Given the description of an element on the screen output the (x, y) to click on. 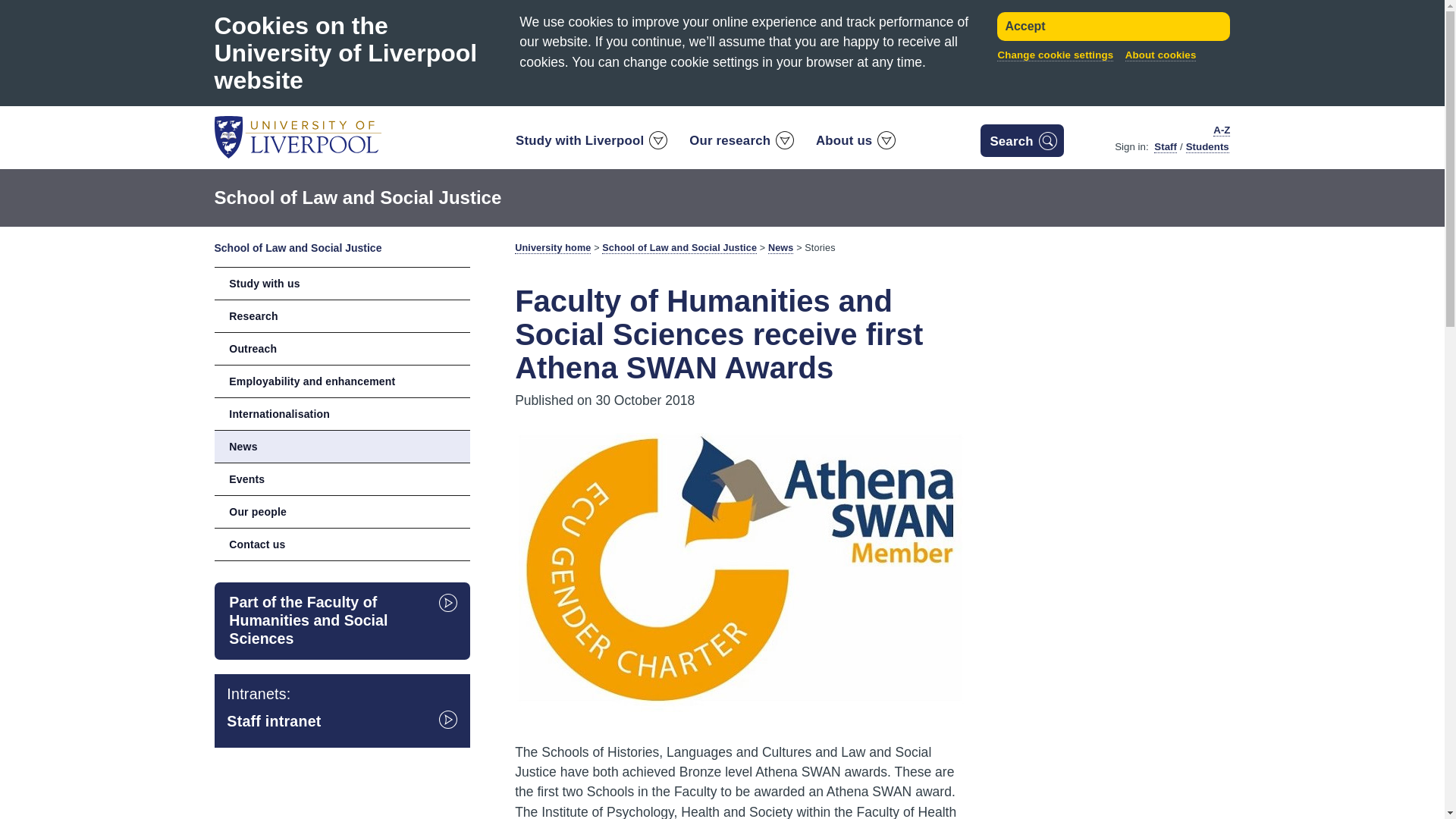
Athena Swan ECU Gender Charter Member (740, 565)
About us (855, 143)
About cookies (1160, 55)
Change cookie settings (1055, 55)
Our research (740, 143)
Accept (1113, 26)
Accept (1113, 26)
University of Liverpool Home (297, 136)
Study with Liverpool (590, 143)
